Given the description of an element on the screen output the (x, y) to click on. 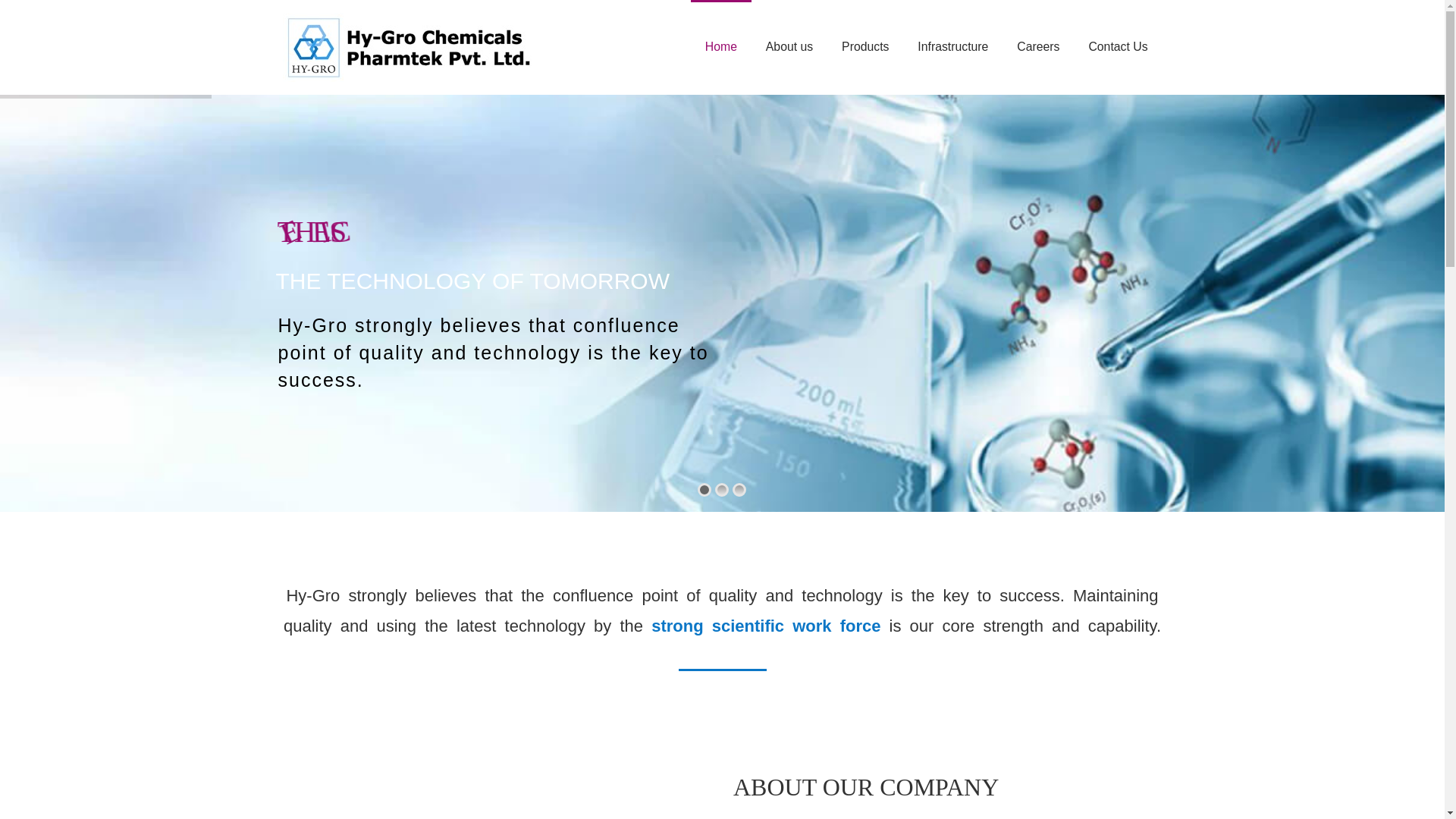
Hy-Gro Chemicals Pharmtek Pvt Ltd  (408, 46)
Contact Us (1117, 47)
Infrastructure (952, 47)
